Given the description of an element on the screen output the (x, y) to click on. 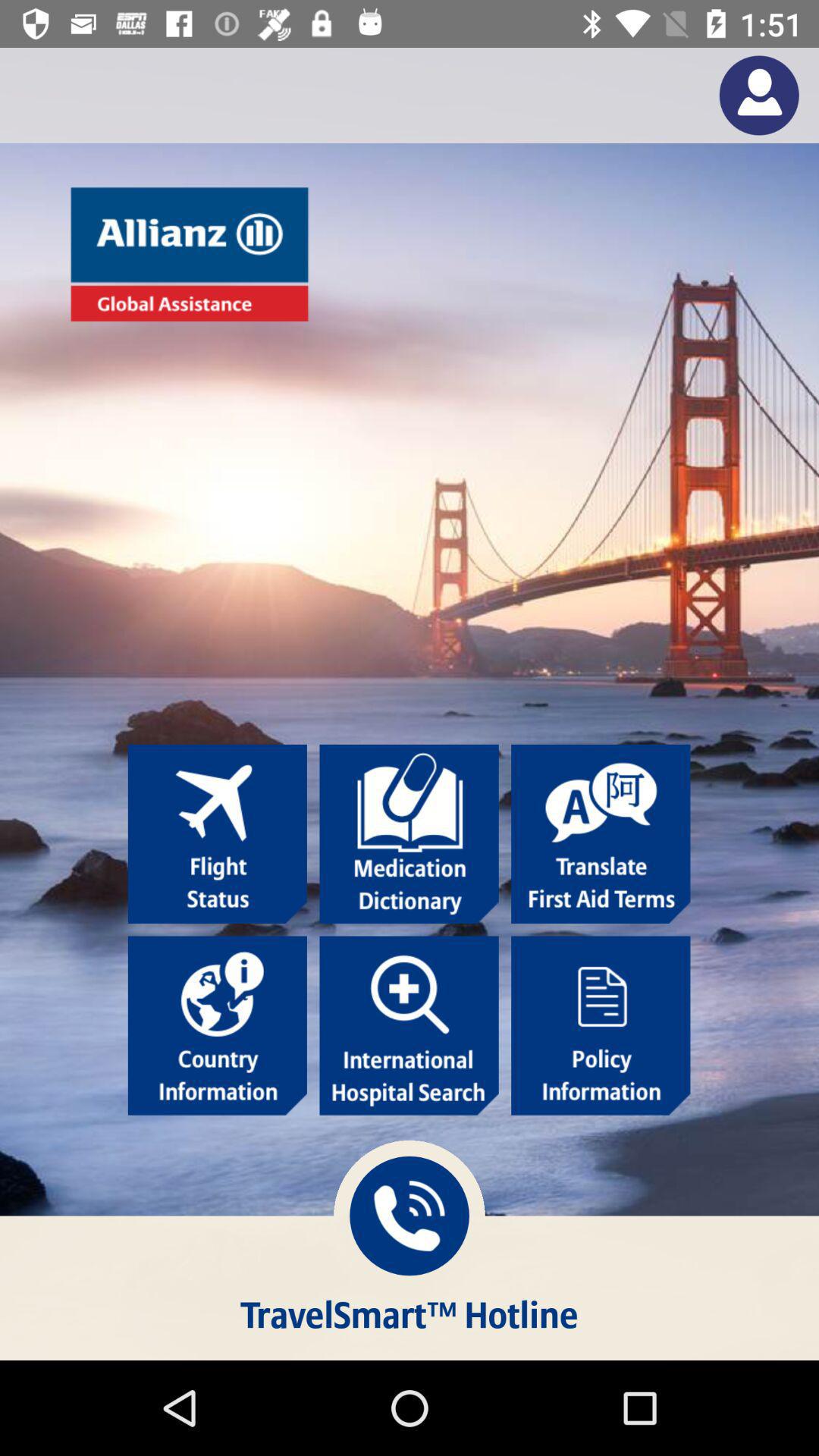
search hospitals (408, 1025)
